Given the description of an element on the screen output the (x, y) to click on. 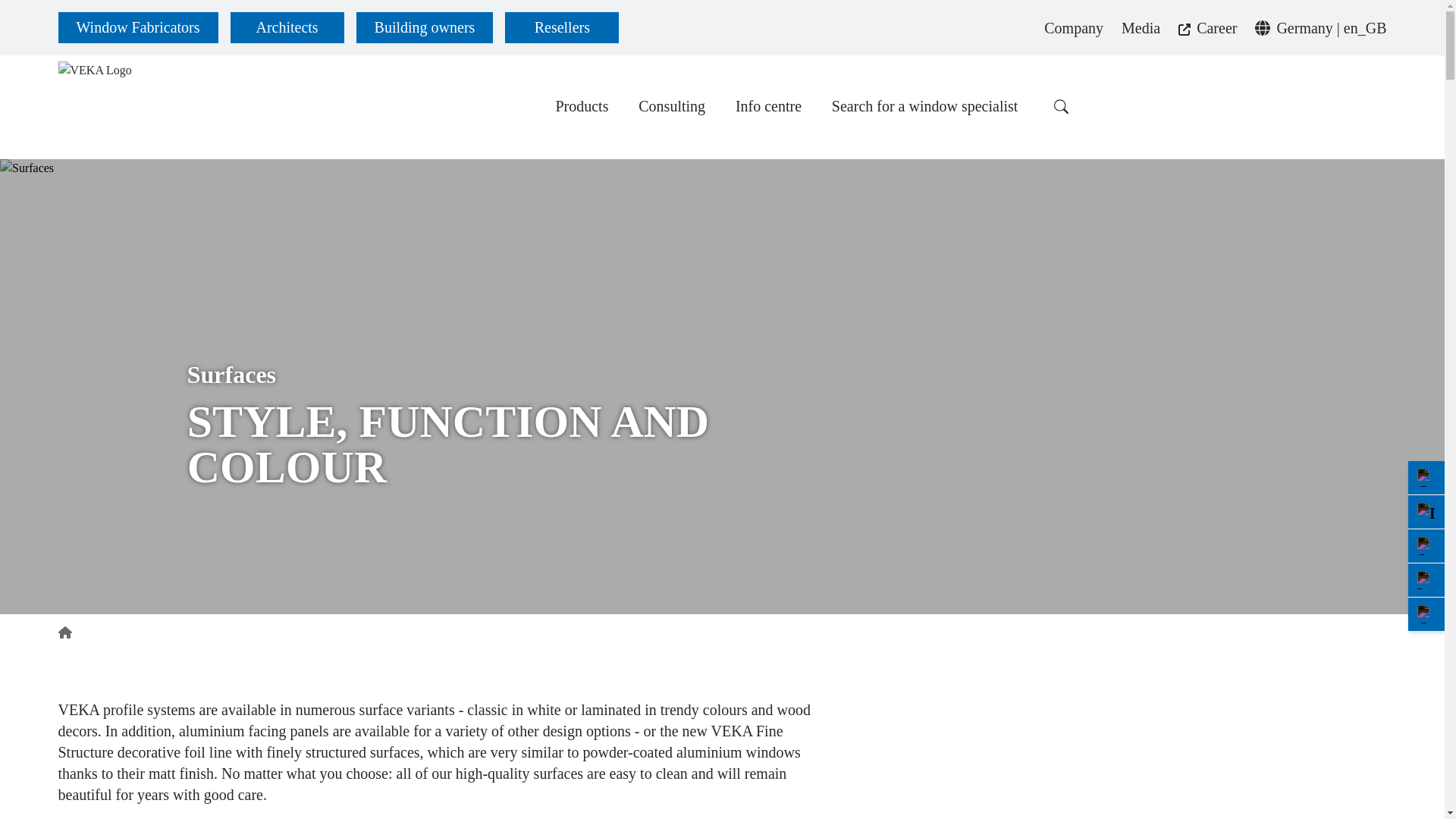
Resellers (561, 27)
Building owners (424, 27)
Architects (286, 27)
Company (1073, 26)
Media (1140, 26)
Building owners (424, 27)
Architects (286, 27)
Resellers (561, 27)
Media (1140, 26)
Window Fabricators (137, 27)
